Given the description of an element on the screen output the (x, y) to click on. 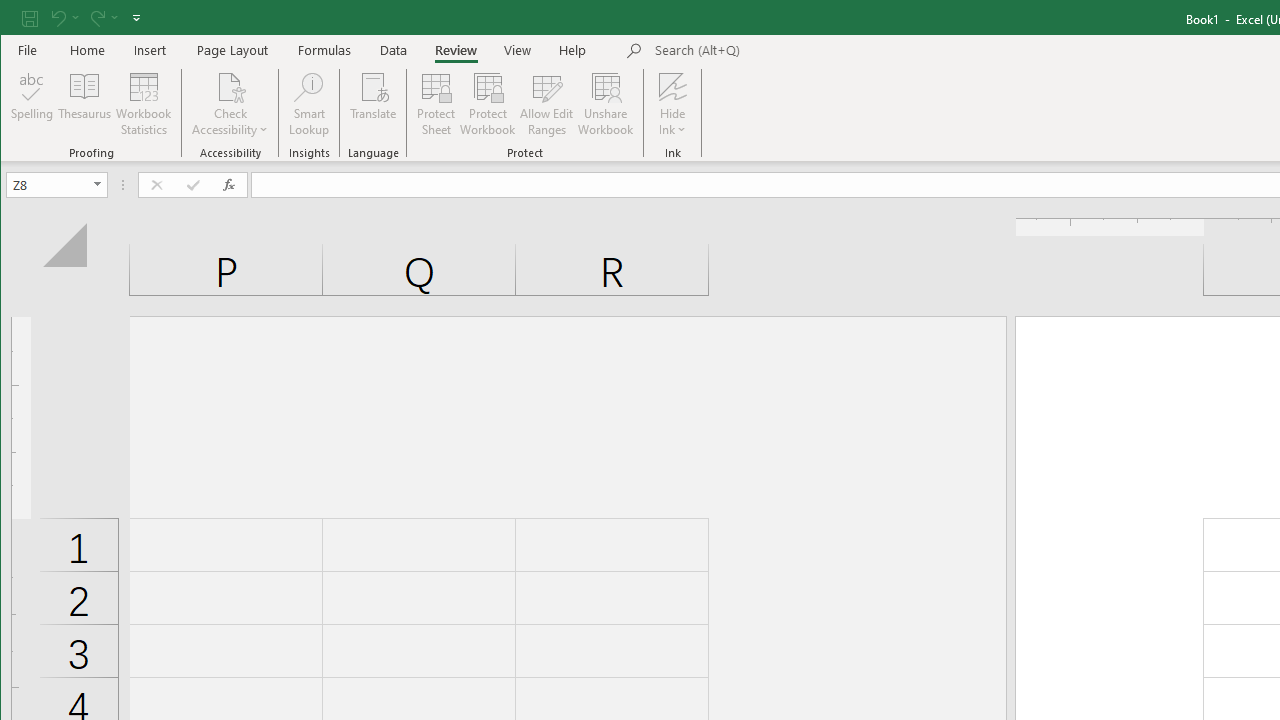
Microsoft search (794, 51)
